Given the description of an element on the screen output the (x, y) to click on. 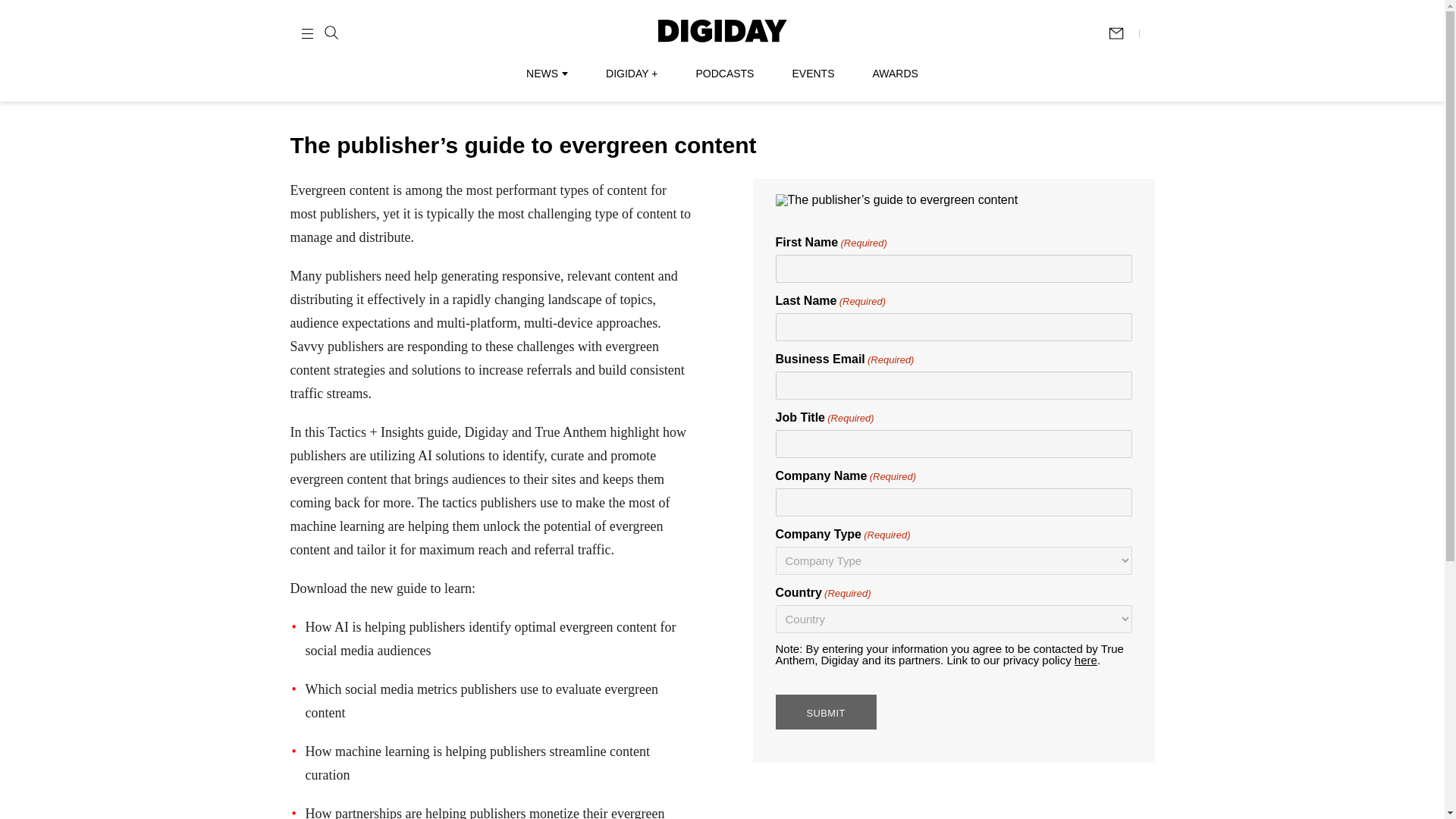
PODCASTS (725, 72)
Subscribe (1123, 33)
AWARDS (894, 72)
Submit (825, 711)
NEWS (546, 72)
EVENTS (813, 72)
